Given the description of an element on the screen output the (x, y) to click on. 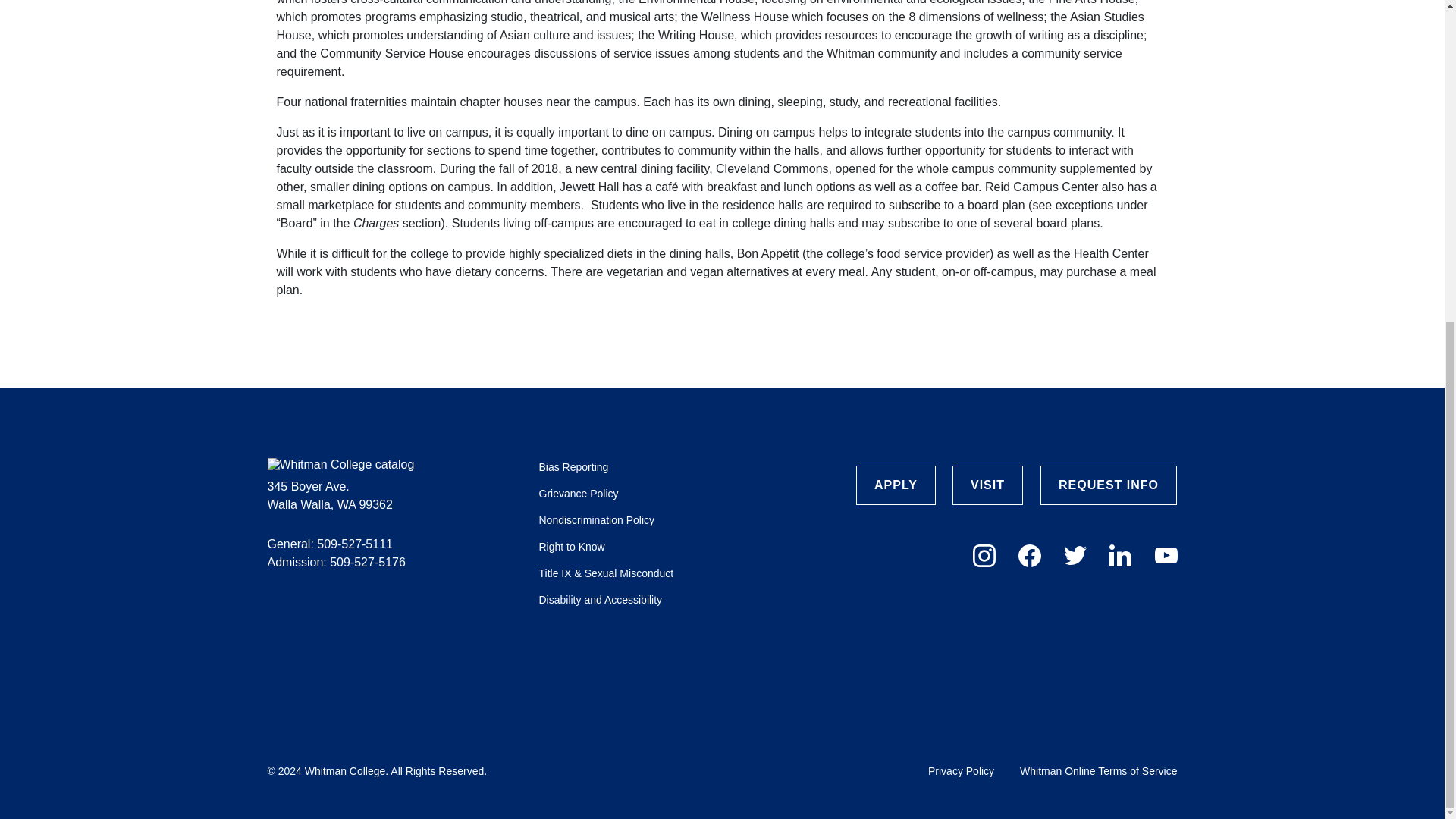
Visit (987, 485)
Whitman Online Terms of Service (1098, 770)
Nondiscrimination Policy (595, 520)
Request Info (1108, 485)
Grievance Policy (577, 493)
Disability and Accessibility (600, 599)
Right to Know (571, 546)
Disability and Accessibility (600, 599)
Privacy Policy (962, 770)
Any student, on-or off-campus, may purchase a meal plan. (716, 280)
VISIT (987, 485)
Right to Know (571, 546)
Apply (896, 485)
REQUEST INFO (1108, 485)
Privacy Policy (962, 770)
